Given the description of an element on the screen output the (x, y) to click on. 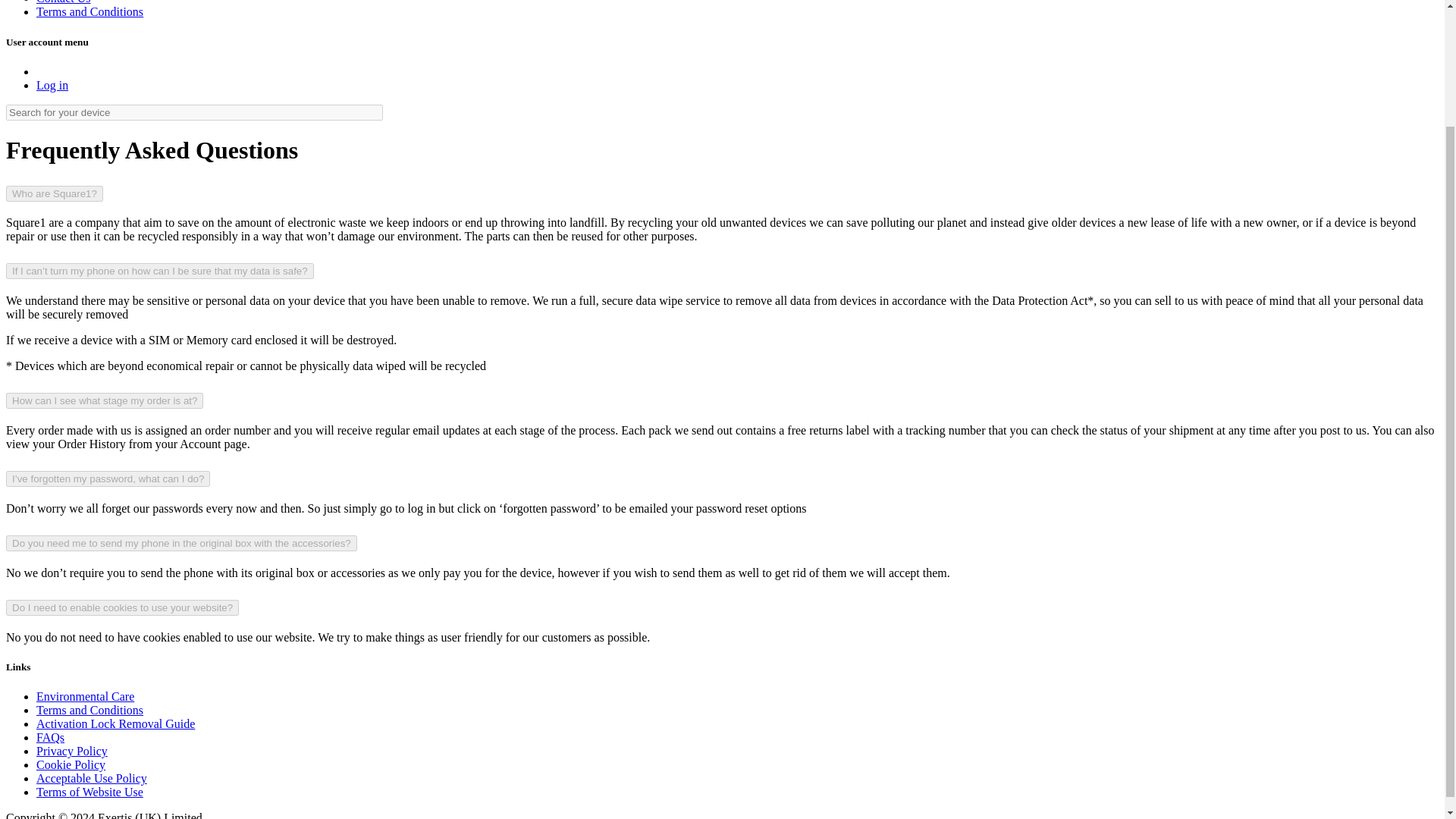
Terms and Conditions (89, 709)
Who are Square1? (54, 193)
Terms and Conditions (89, 11)
Environmental Care (84, 696)
FAQs (50, 737)
Contact Us (63, 2)
How can I see what stage my order is at? (104, 400)
Privacy Policy (71, 750)
Terms of Website Use (89, 791)
Activation Lock Removal Guide (115, 723)
Acceptable Use Policy (91, 778)
Do I need to enable cookies to use your website? (121, 607)
Cookie Policy (70, 764)
Log in (52, 84)
